Given the description of an element on the screen output the (x, y) to click on. 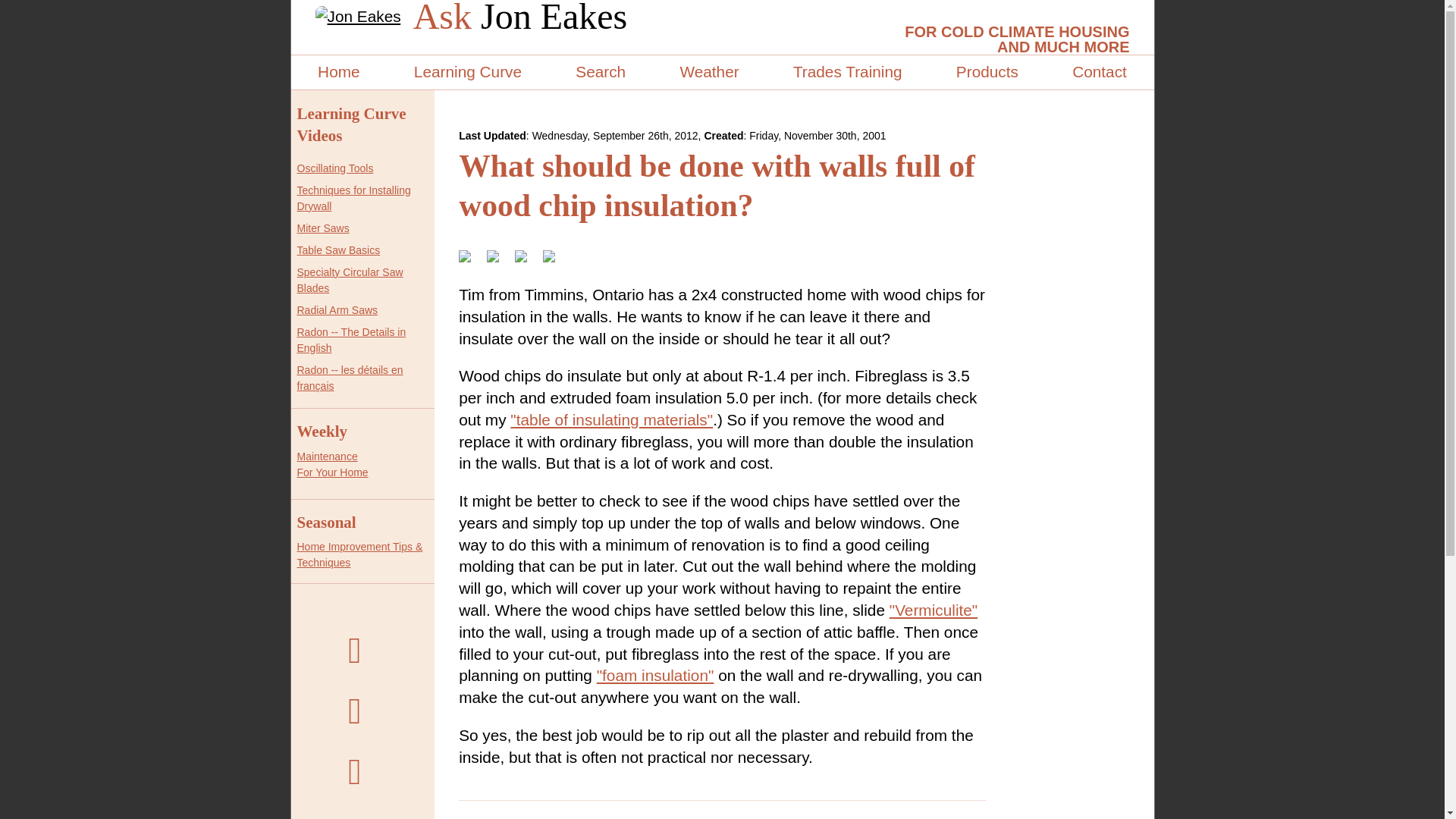
Table Saw Basics (338, 250)
"table of insulating materials" (612, 419)
Products (986, 72)
Trades Training (847, 72)
Ask Jon Eakes (520, 16)
"Vermiculite" (932, 610)
Radial Arm Saws (332, 464)
"foam insulation" (337, 309)
Home (655, 674)
